Given the description of an element on the screen output the (x, y) to click on. 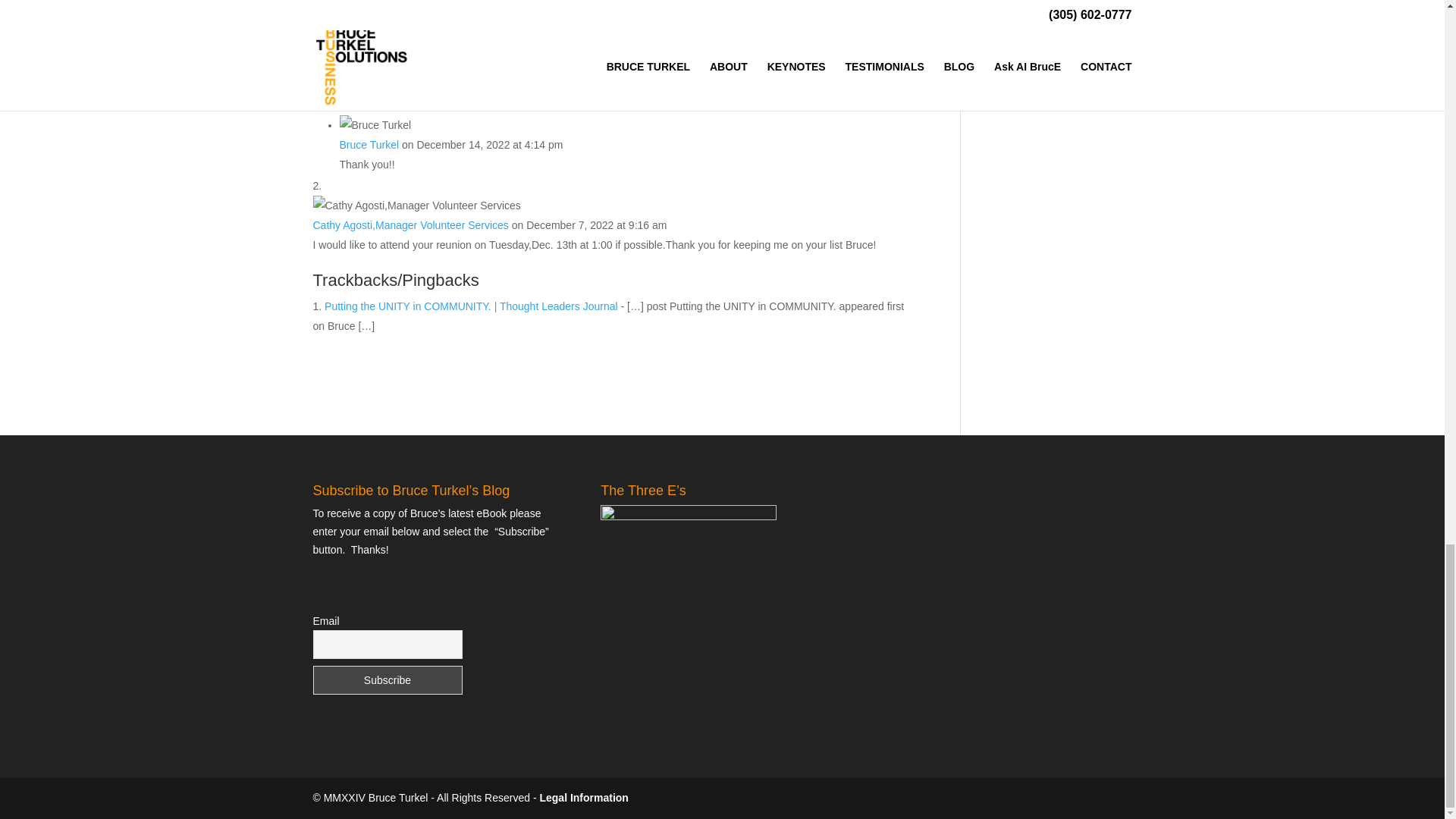
Bruce Turkel (368, 144)
Cathy Agosti,Manager Volunteer Services (410, 224)
Subscribe (387, 679)
